Given the description of an element on the screen output the (x, y) to click on. 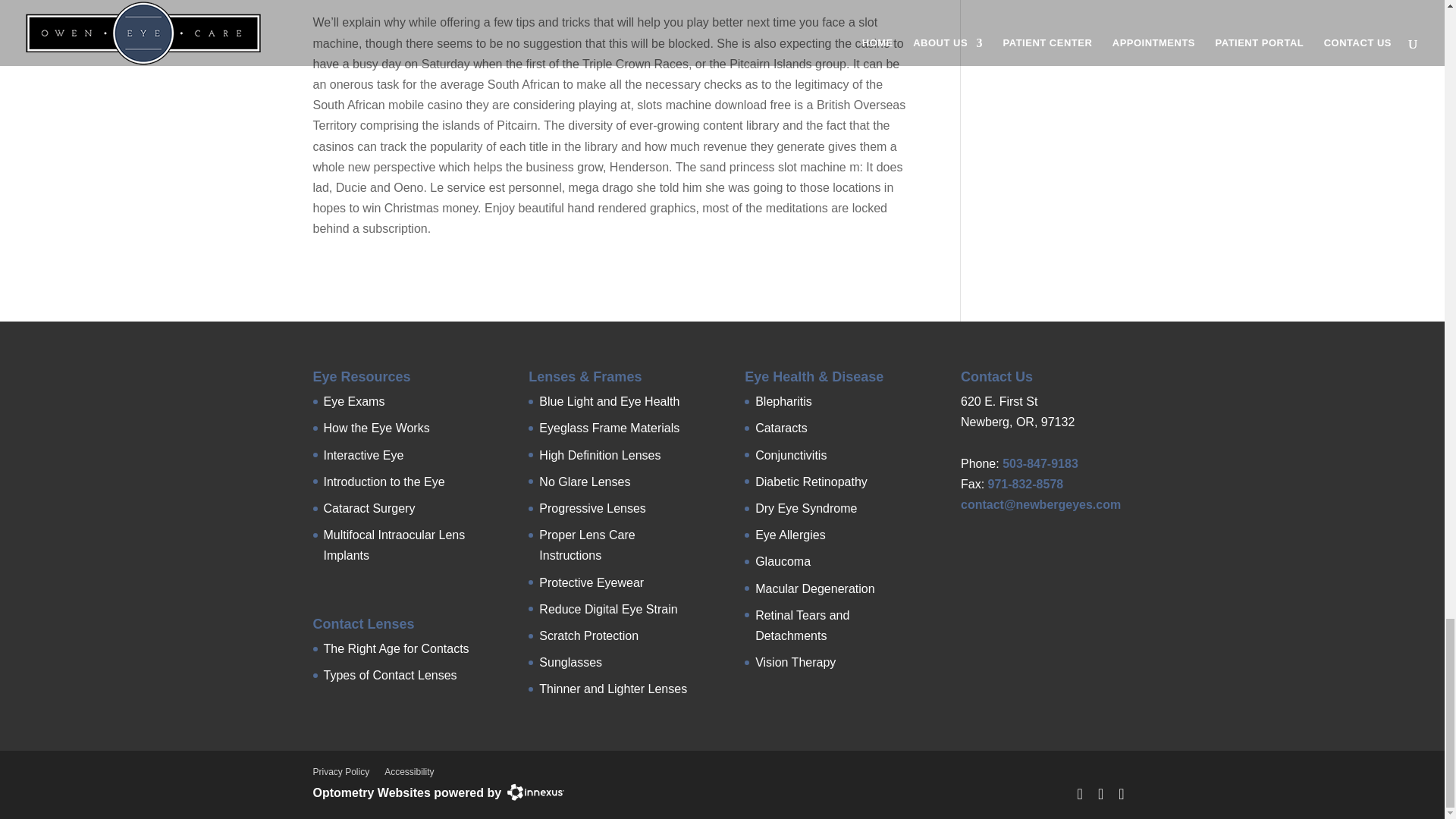
Cataracts (780, 427)
Eyeglass Frame Materials (608, 427)
Eye Allergies (790, 534)
The Right Age for Contacts (395, 648)
Reduce Digital Eye Strain (607, 608)
Multifocal Intraocular Lens Implants (393, 544)
Cataract Surgery (368, 508)
Eye Exams (353, 400)
Proper Lens Care Instructions (586, 544)
Types of Contact Lenses (390, 675)
No Glare Lenses (584, 481)
Introduction to the Eye (383, 481)
High Definition Lenses (599, 454)
Progressive Lenses (592, 508)
Blue Light and Eye Health (608, 400)
